Given the description of an element on the screen output the (x, y) to click on. 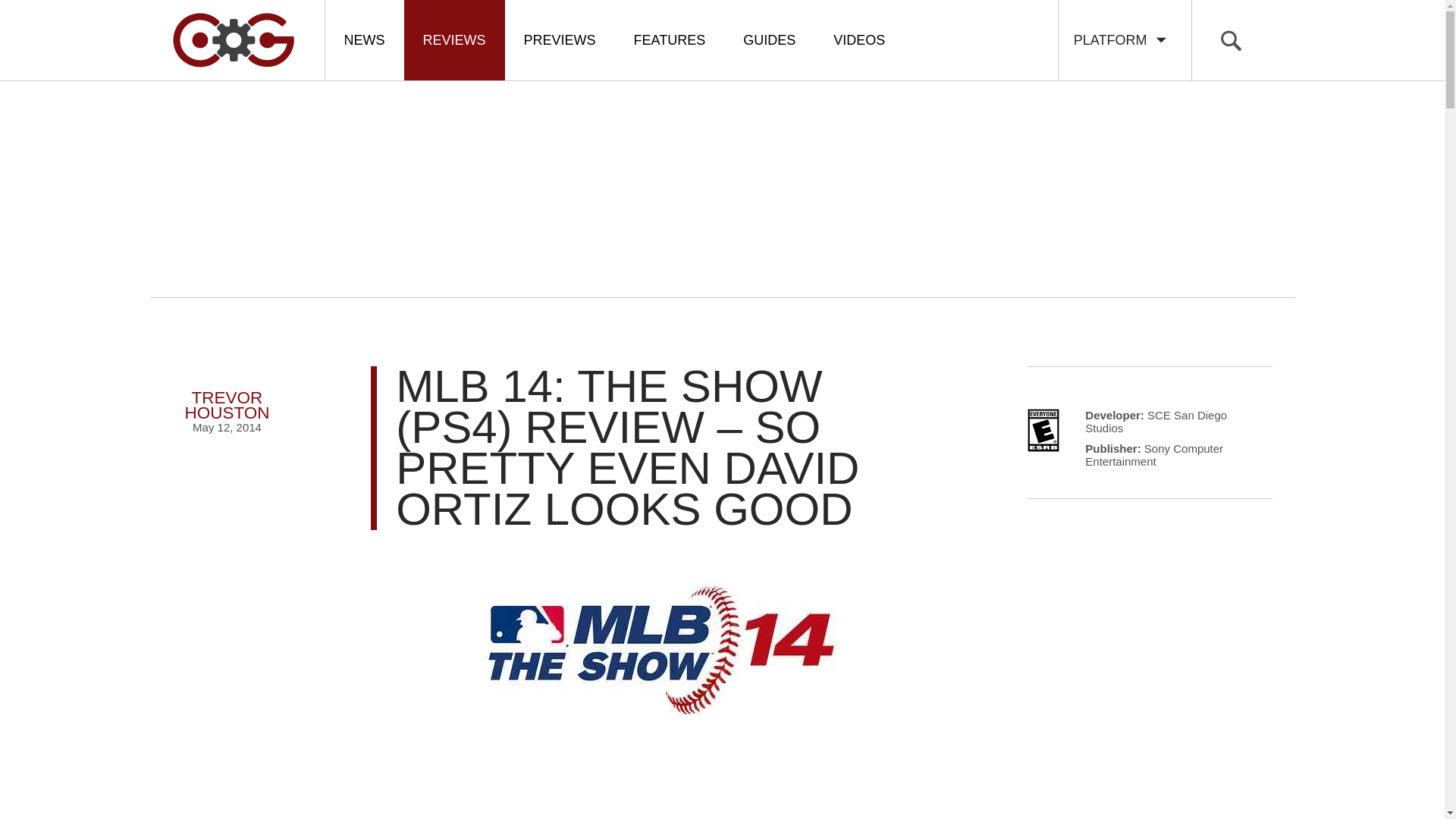
PLATFORM   (1124, 39)
MLB14TheShowBannerLogo (660, 650)
